Given the description of an element on the screen output the (x, y) to click on. 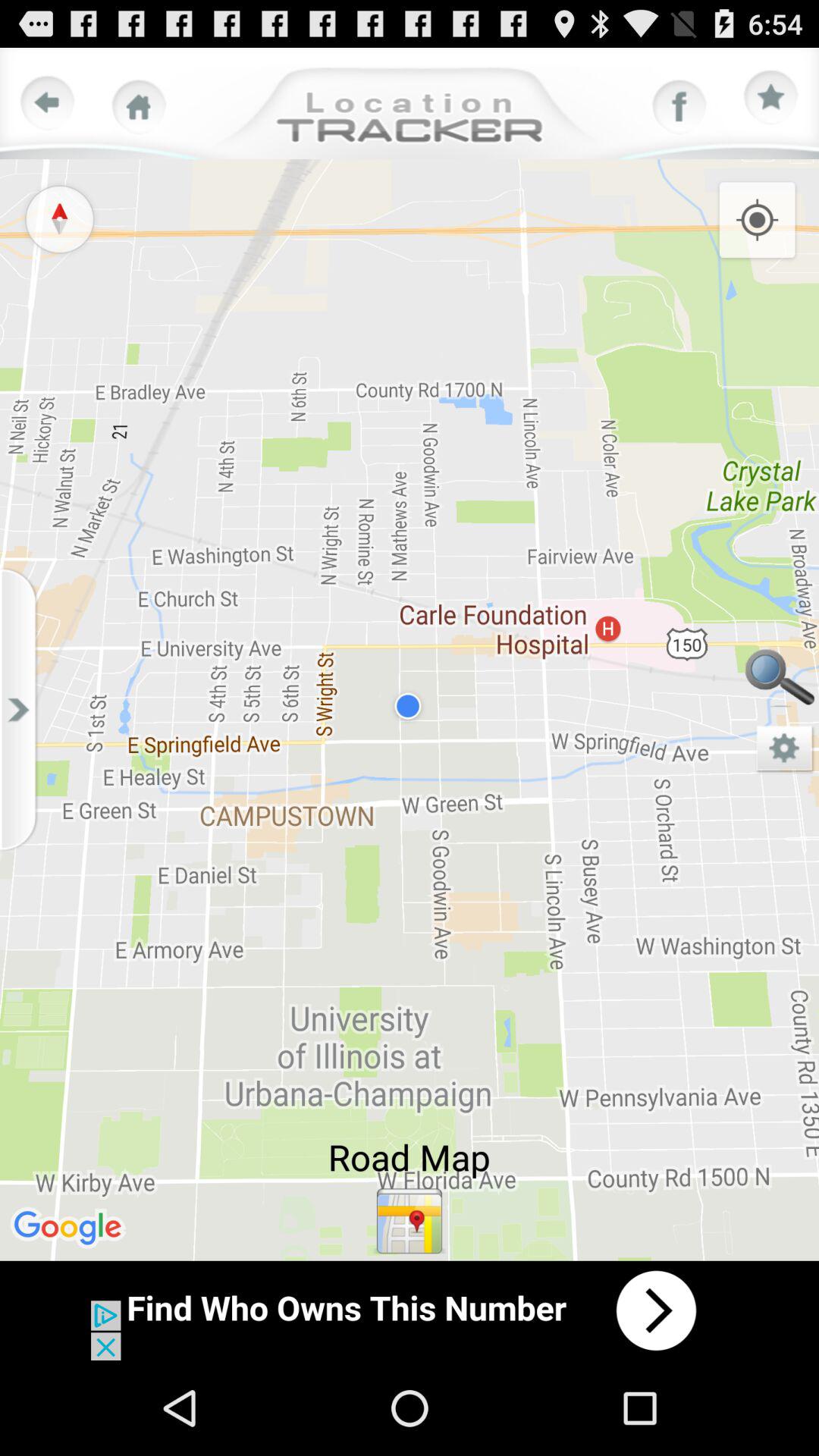
facebook (679, 107)
